Given the description of an element on the screen output the (x, y) to click on. 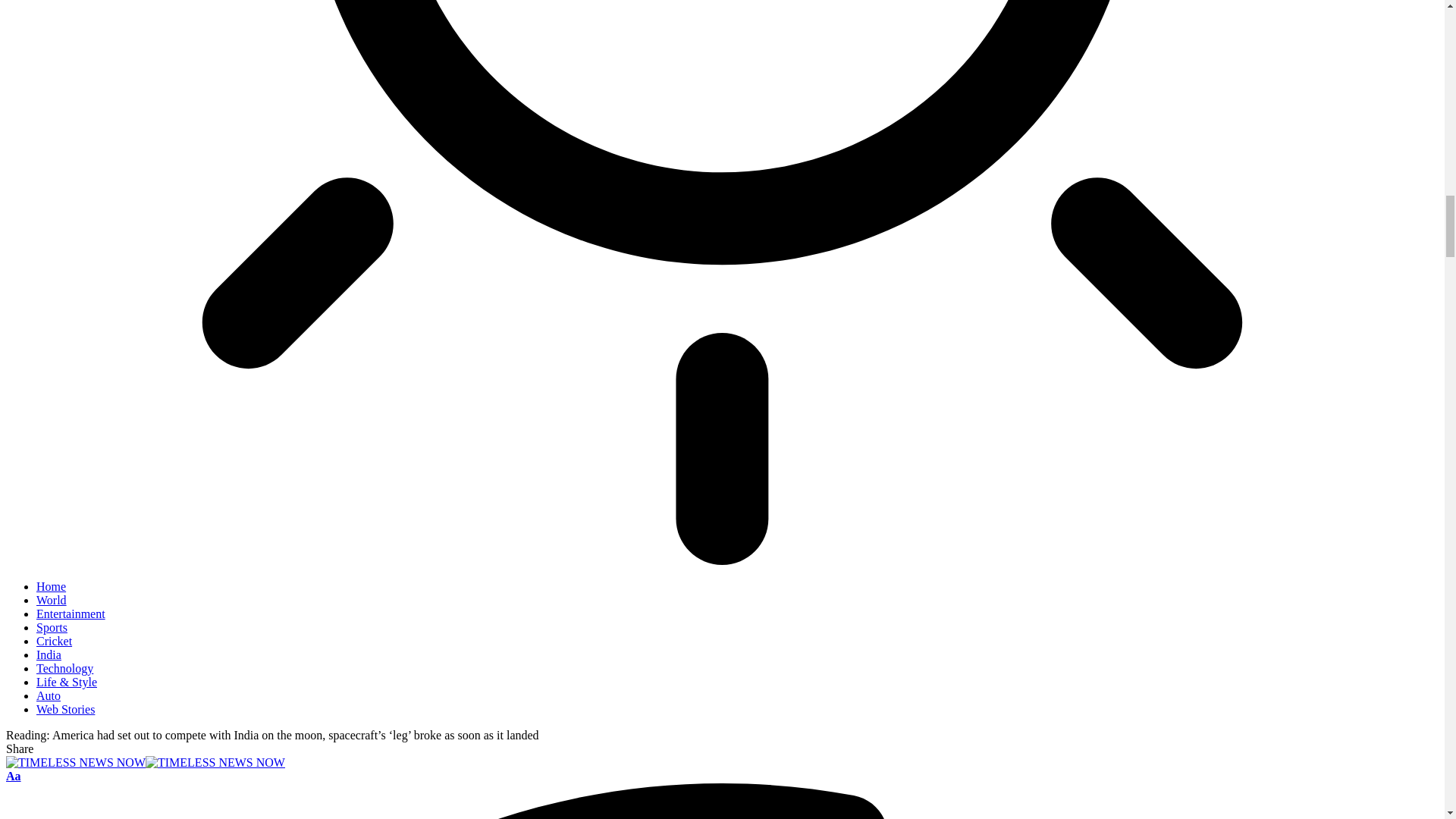
Auto (48, 695)
Home (50, 585)
TIMELESS NEWS NOW (145, 762)
World (51, 599)
Cricket (53, 640)
Aa (13, 775)
Web Stories (65, 708)
India (48, 654)
Sports (51, 626)
Entertainment (70, 613)
